Given the description of an element on the screen output the (x, y) to click on. 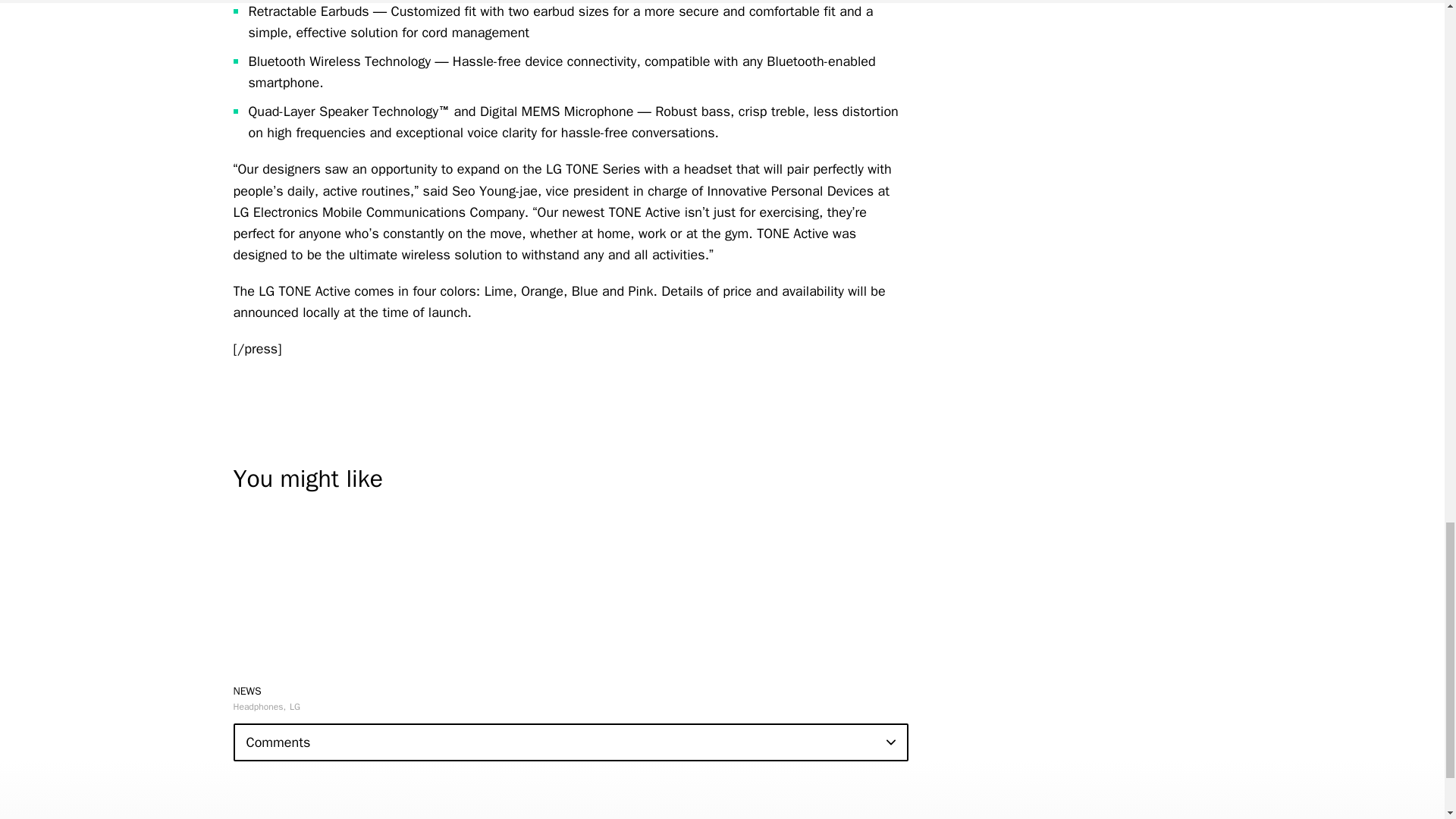
LG (294, 706)
Comments (570, 742)
NEWS (247, 690)
Headphones (259, 706)
